Given the description of an element on the screen output the (x, y) to click on. 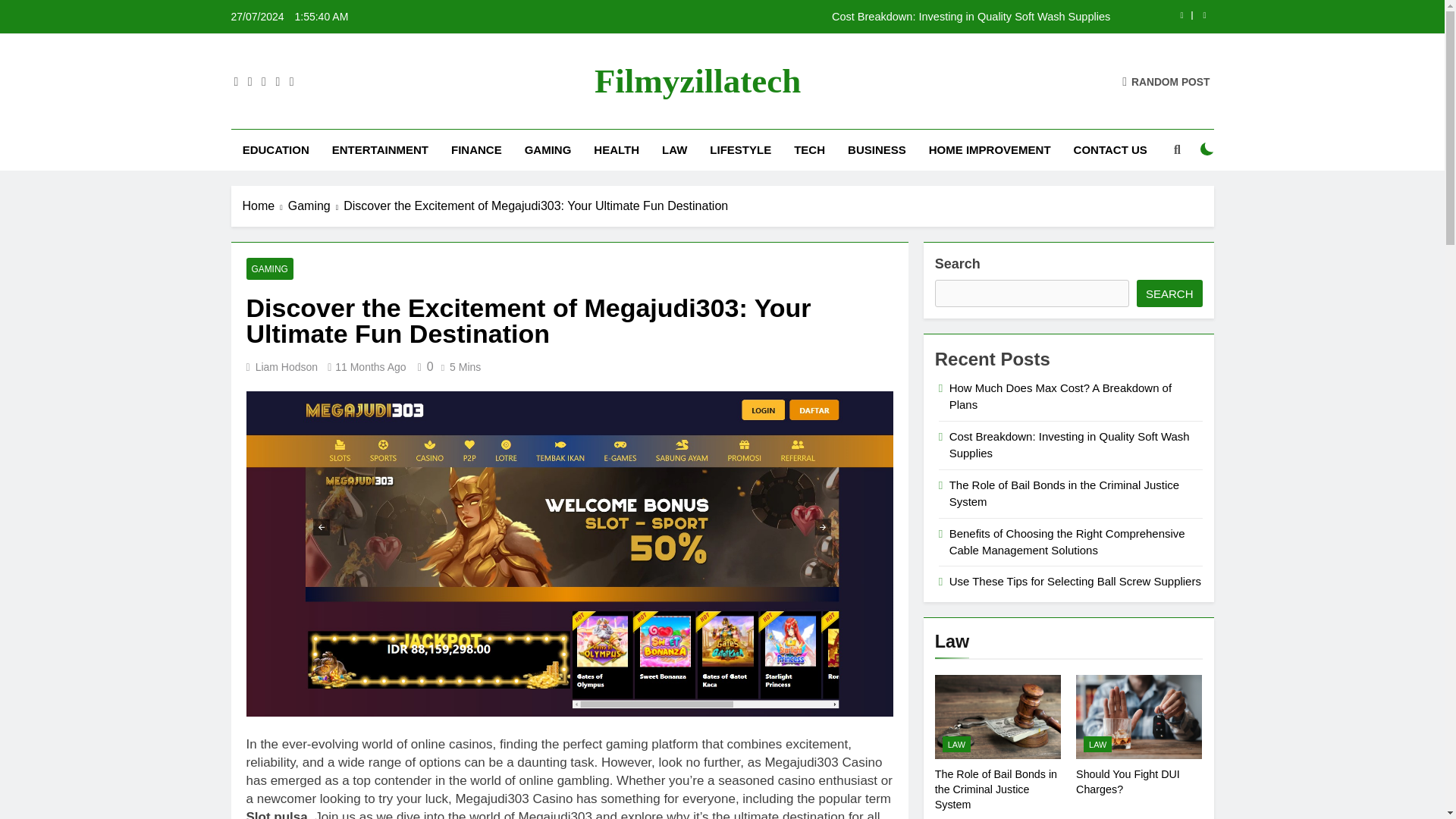
HEALTH (616, 149)
LAW (674, 149)
BUSINESS (876, 149)
Filmyzillatech (697, 80)
LIFESTYLE (740, 149)
0 (422, 366)
HOME IMPROVEMENT (989, 149)
Liam Hodson (287, 367)
Cost Breakdown: Investing in Quality Soft Wash Supplies (817, 16)
TECH (809, 149)
Home (265, 206)
FINANCE (476, 149)
RANDOM POST (1165, 80)
on (1206, 149)
CONTACT US (1110, 149)
